Given the description of an element on the screen output the (x, y) to click on. 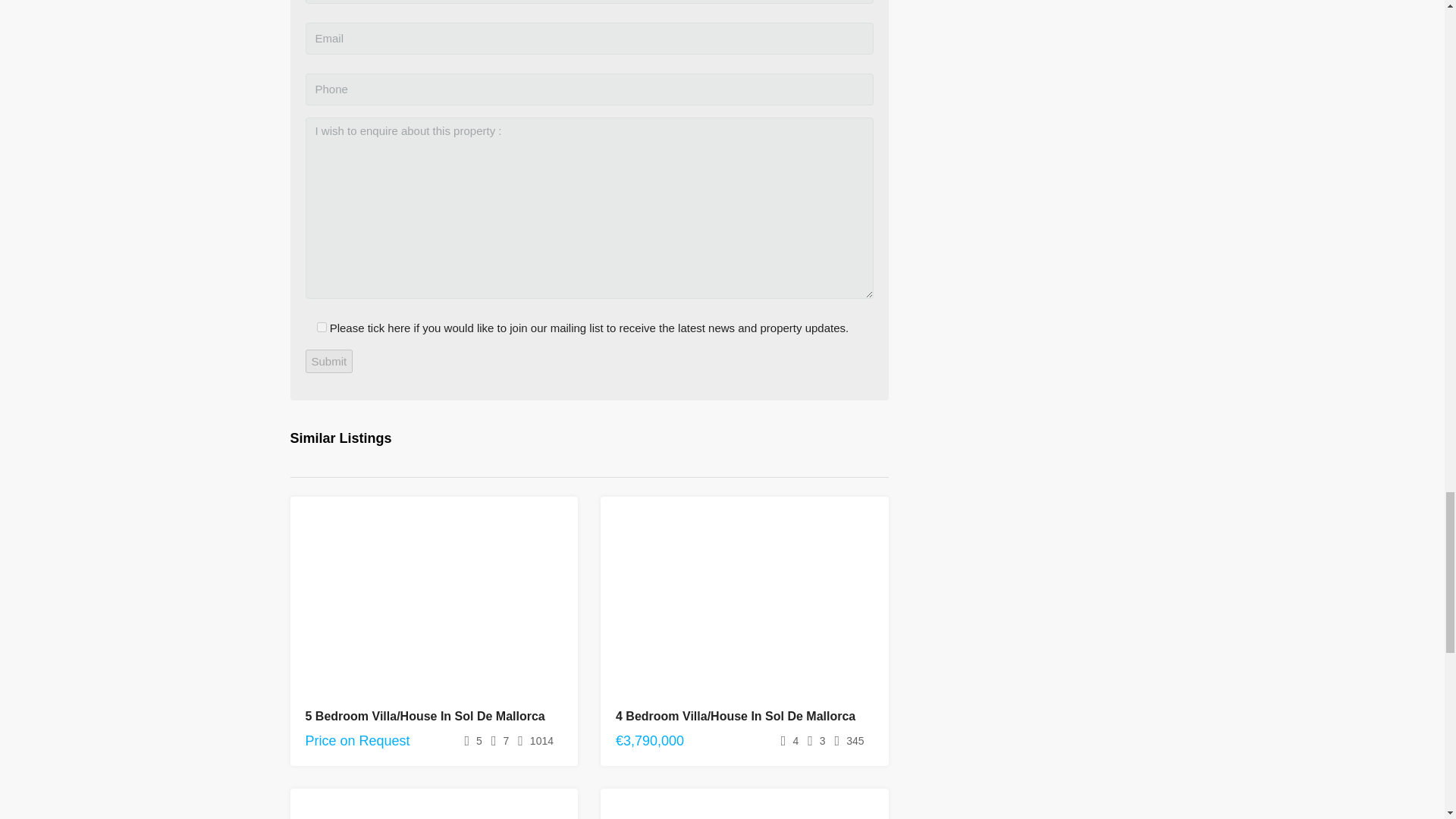
Properties 3 (433, 604)
Submit (328, 361)
Properties 7 (433, 803)
Properties 5 (743, 604)
Properties 9 (743, 803)
